Given the description of an element on the screen output the (x, y) to click on. 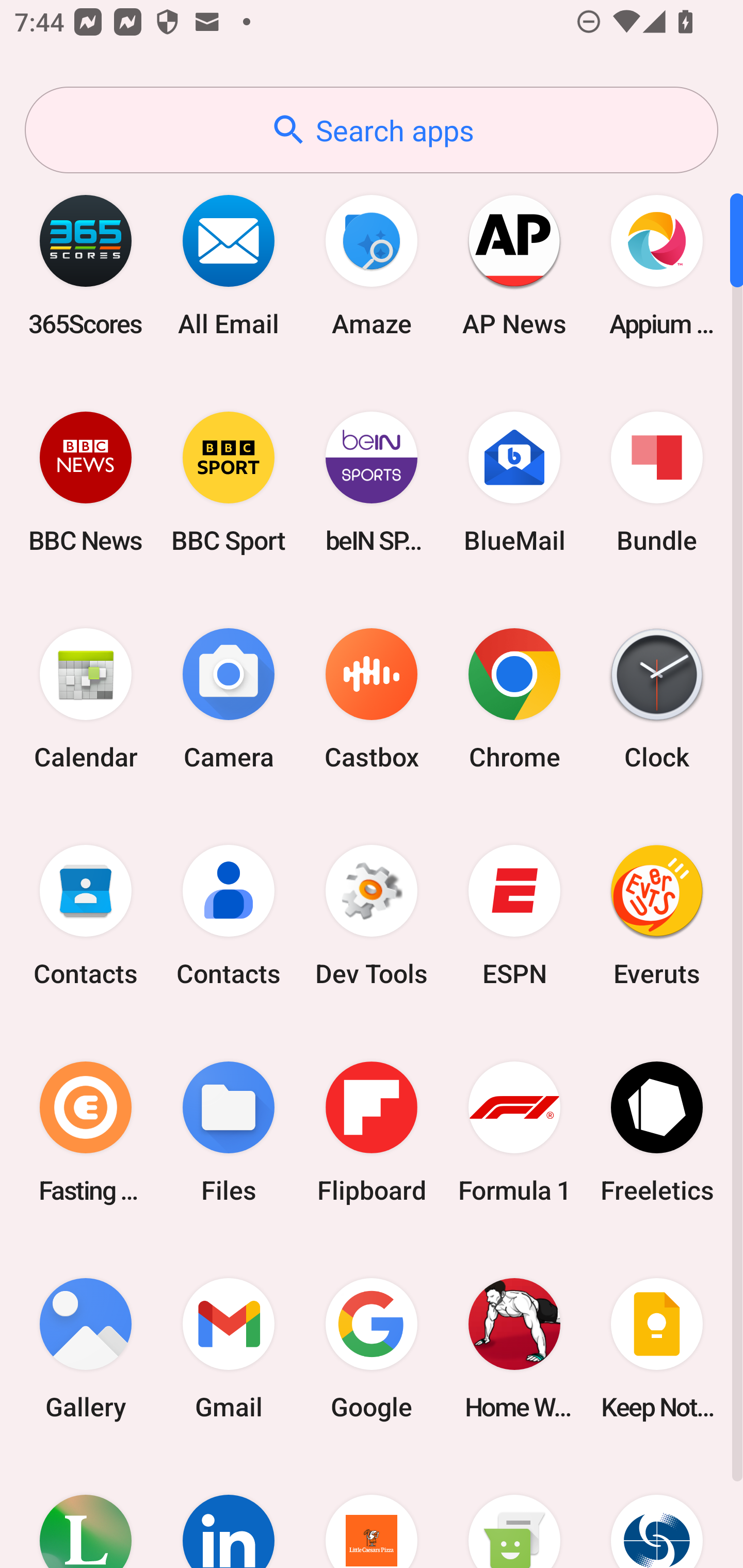
  Search apps (371, 130)
365Scores (85, 264)
All Email (228, 264)
Amaze (371, 264)
AP News (514, 264)
Appium Settings (656, 264)
BBC News (85, 482)
BBC Sport (228, 482)
beIN SPORTS (371, 482)
BlueMail (514, 482)
Bundle (656, 482)
Calendar (85, 699)
Camera (228, 699)
Castbox (371, 699)
Chrome (514, 699)
Clock (656, 699)
Contacts (85, 915)
Contacts (228, 915)
Dev Tools (371, 915)
ESPN (514, 915)
Everuts (656, 915)
Fasting Coach (85, 1131)
Files (228, 1131)
Flipboard (371, 1131)
Formula 1 (514, 1131)
Freeletics (656, 1131)
Gallery (85, 1348)
Gmail (228, 1348)
Google (371, 1348)
Home Workout (514, 1348)
Keep Notes (656, 1348)
